Given the description of an element on the screen output the (x, y) to click on. 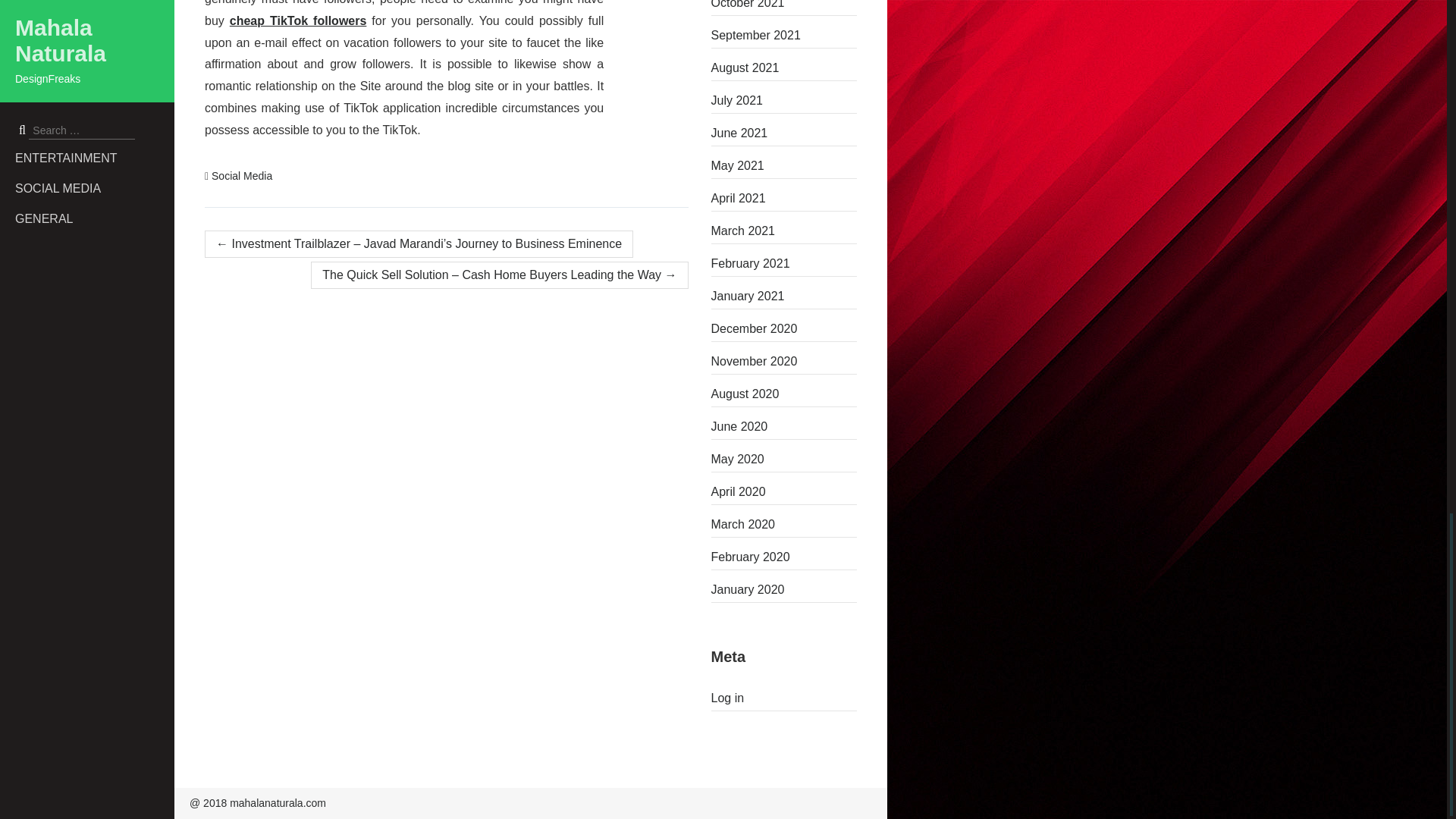
Social Media (241, 175)
cheap TikTok followers (298, 20)
